Given the description of an element on the screen output the (x, y) to click on. 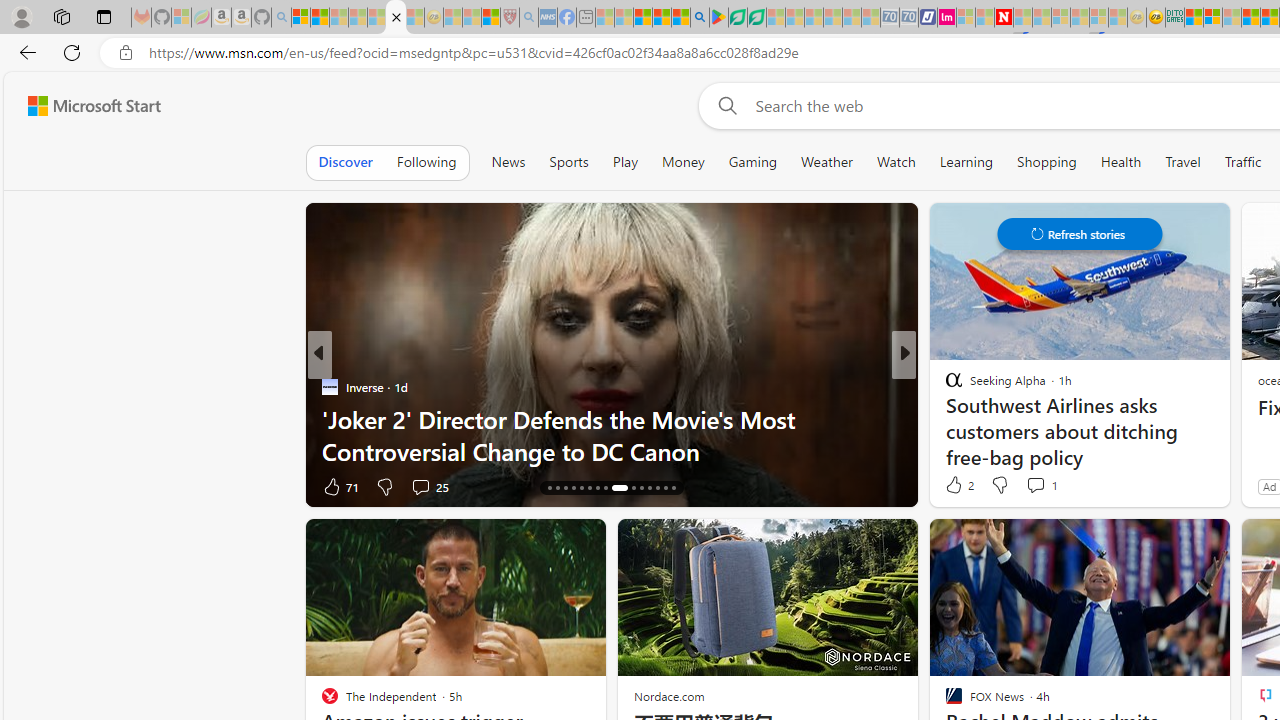
Weather (826, 161)
Travel (1183, 161)
Skip to footer (82, 105)
Shopping (1047, 161)
AutomationID: tab-20 (581, 487)
CNN (329, 386)
View comments 9 Comment (1036, 485)
2 Like (957, 484)
Personal Profile (21, 16)
AutomationID: tab-23 (605, 487)
Skip to content (86, 105)
AutomationID: tab-28 (656, 487)
Traffic (1242, 162)
